Given the description of an element on the screen output the (x, y) to click on. 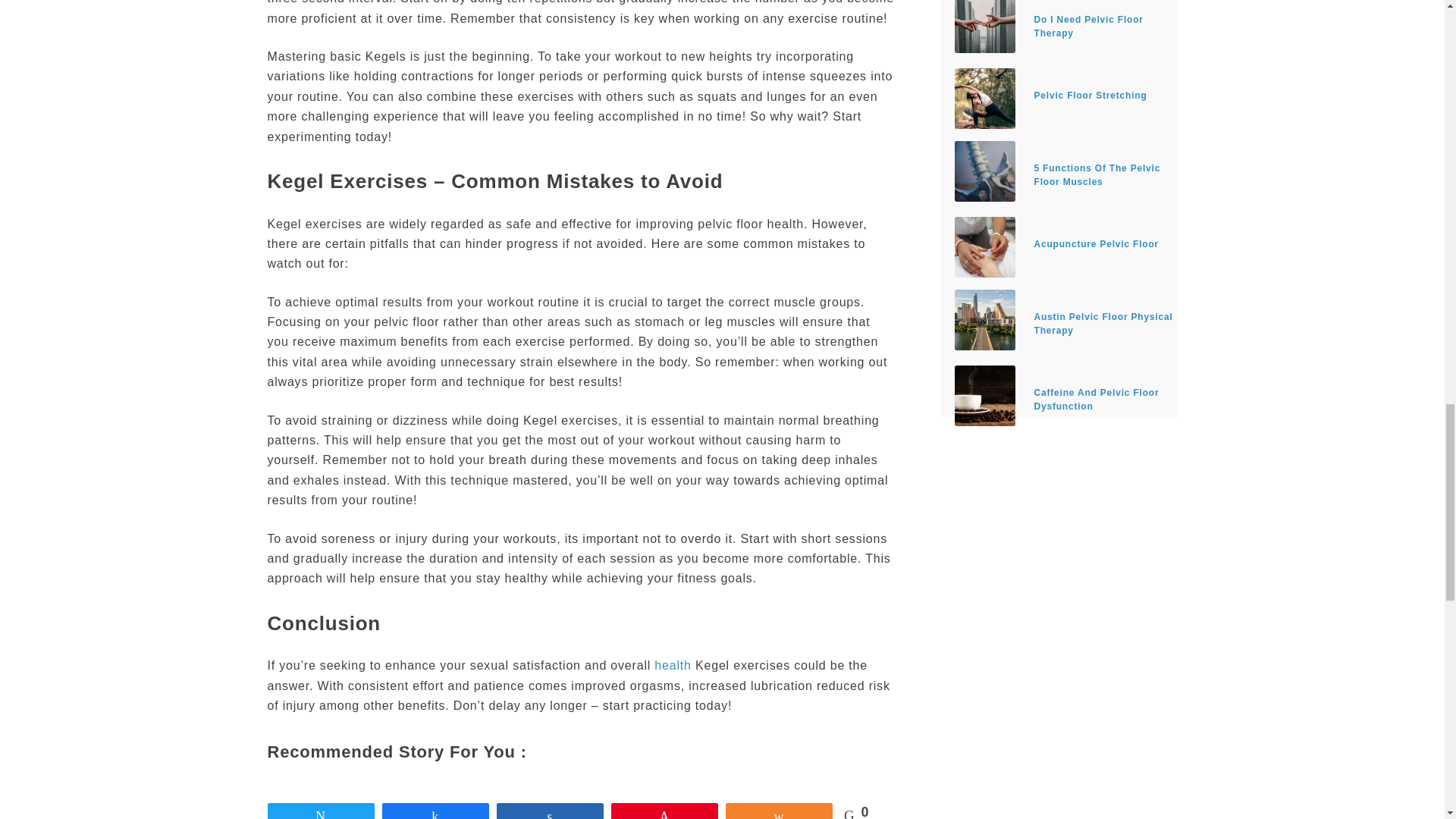
Acupuncture Pelvic Floor (983, 247)
Do I Need Pelvic Floor Therapy (983, 26)
health (671, 665)
Austin Pelvic Floor Physical Therapy (983, 319)
Do I Need Pelvic Floor Therapy (1058, 26)
Pelvic Floor Stretching (983, 97)
Caffeine And Pelvic Floor Dysfunction (983, 395)
5 Functions Of The Pelvic Floor Muscles (983, 170)
